Given the description of an element on the screen output the (x, y) to click on. 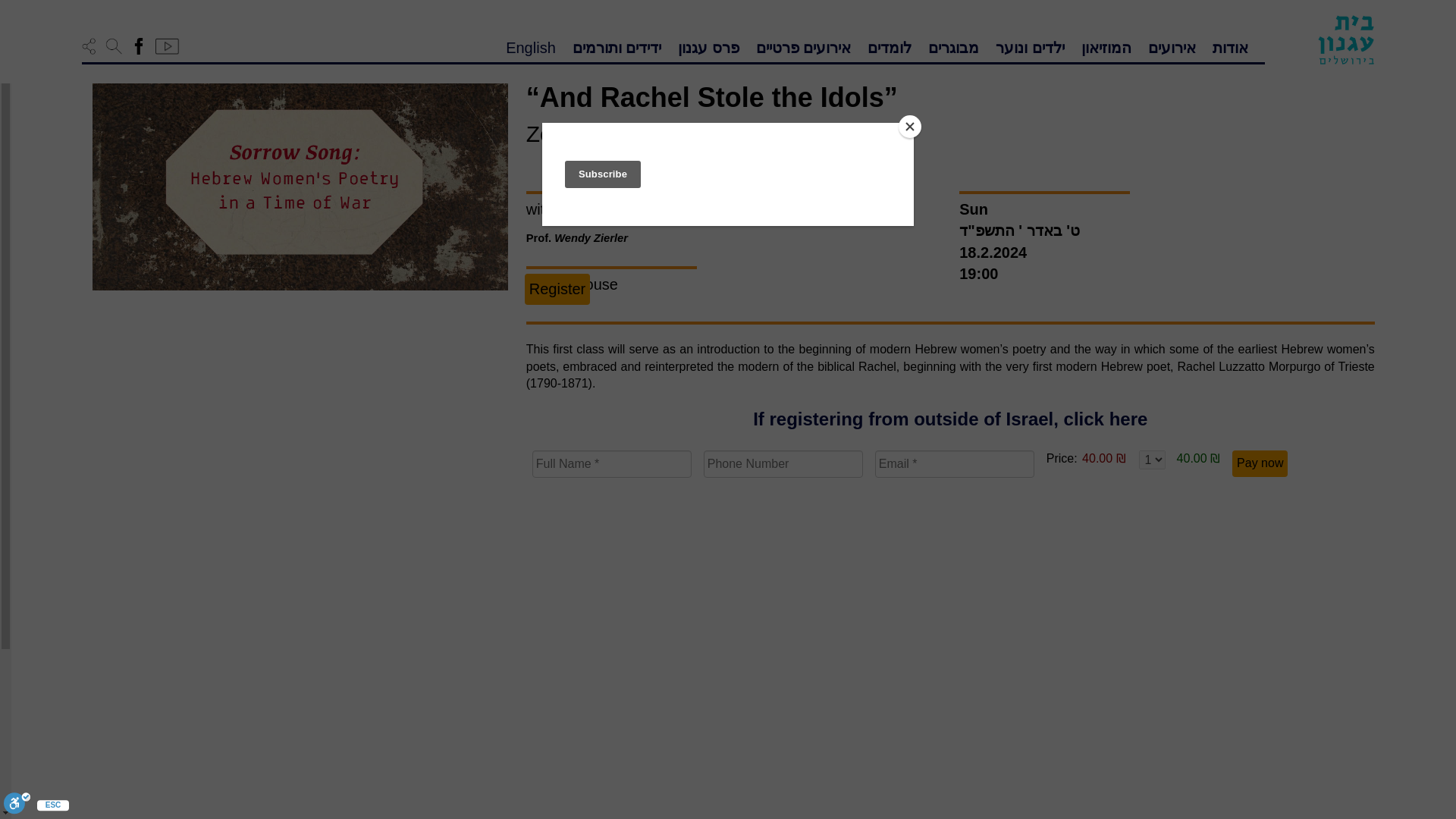
Pay now (1259, 463)
English (530, 46)
